Given the description of an element on the screen output the (x, y) to click on. 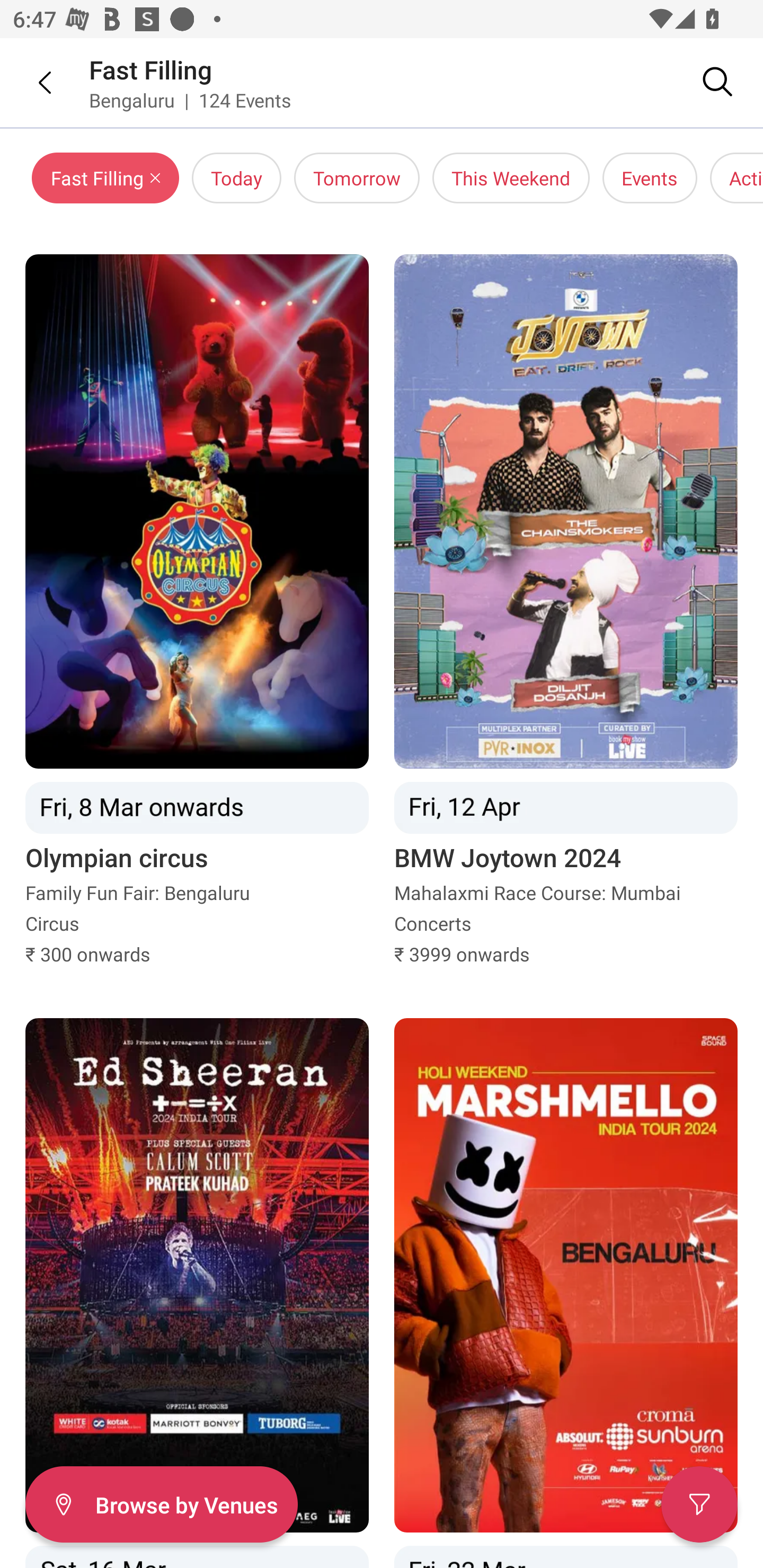
Back (31, 82)
Fast Filling (150, 68)
Bengaluru  |  124 Events (190, 99)
Fast Filling Close (105, 177)
Today (236, 177)
Tomorrow (356, 177)
This Weekend (510, 177)
Events (649, 177)
Filter Browse by Venues (161, 1504)
Filter (699, 1504)
